Given the description of an element on the screen output the (x, y) to click on. 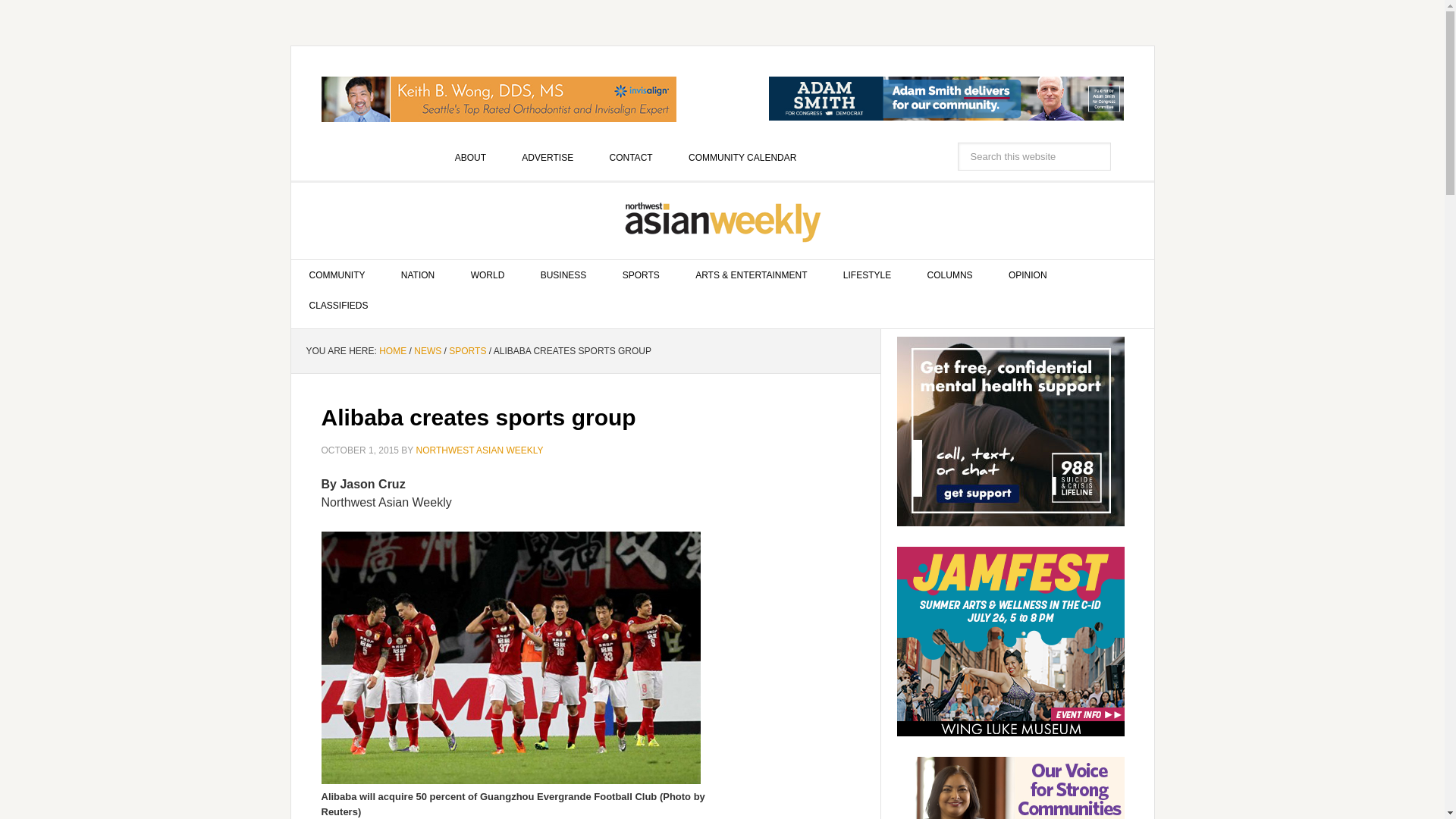
COLUMNS (949, 275)
ADVERTISE (547, 157)
NORTHWEST ASIAN WEEKLY (478, 450)
NEWS (427, 350)
NATION (417, 275)
SPORTS (467, 350)
CLASSIFIEDS (339, 305)
ABOUT (469, 157)
BUSINESS (563, 275)
SPORTS (641, 275)
WORLD (487, 275)
LIFESTYLE (866, 275)
COMMUNITY (337, 275)
HOME (392, 350)
